Given the description of an element on the screen output the (x, y) to click on. 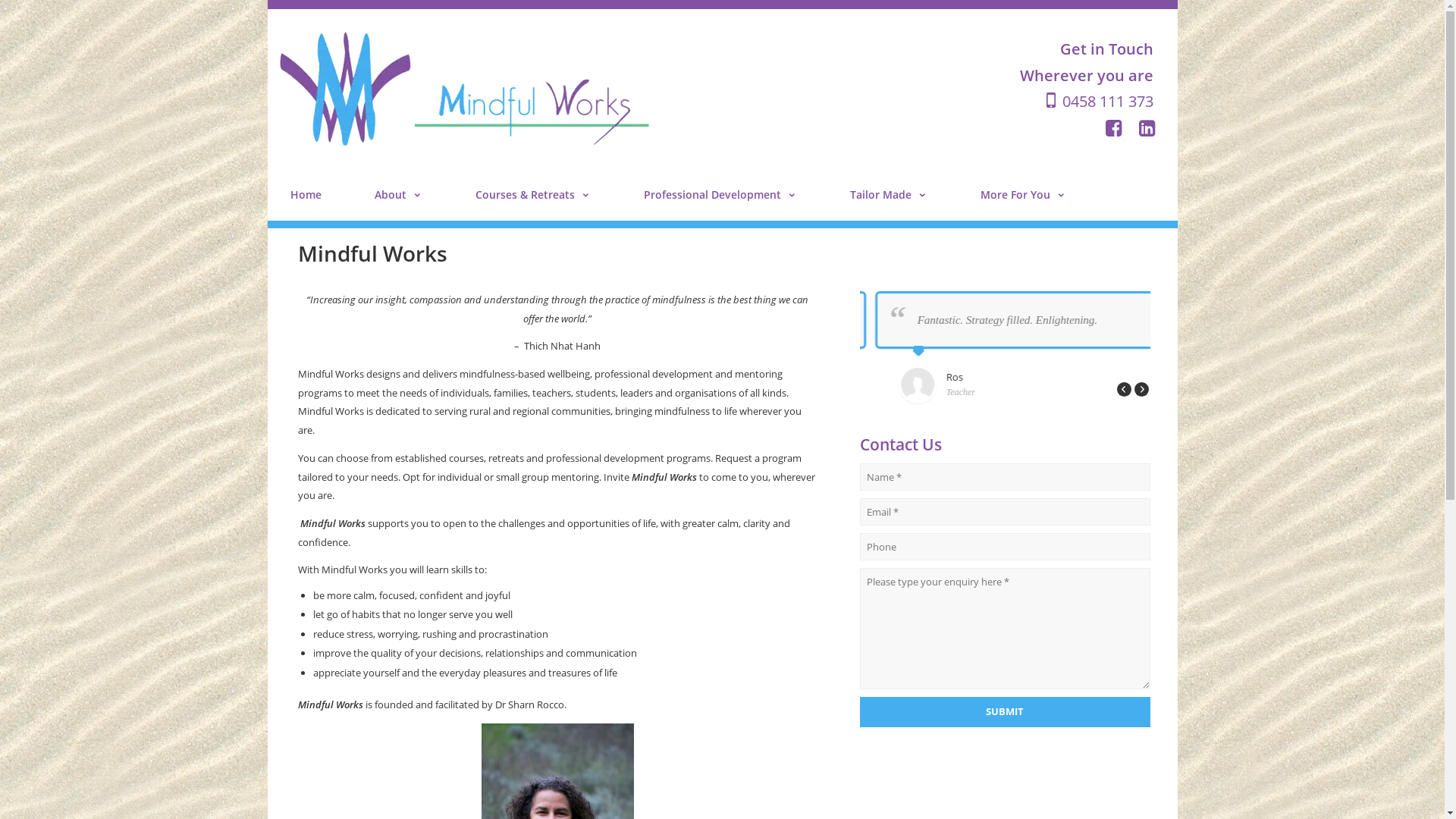
More For You Element type: text (1022, 194)
Courses & Retreats Element type: text (532, 194)
Get in Touch Element type: text (1106, 48)
0458 111 373 Element type: text (1098, 101)
About Element type: text (398, 194)
Professional Development Element type: text (719, 194)
Home Element type: text (304, 194)
Tailor Made Element type: text (887, 194)
Submit Element type: text (1004, 711)
